Given the description of an element on the screen output the (x, y) to click on. 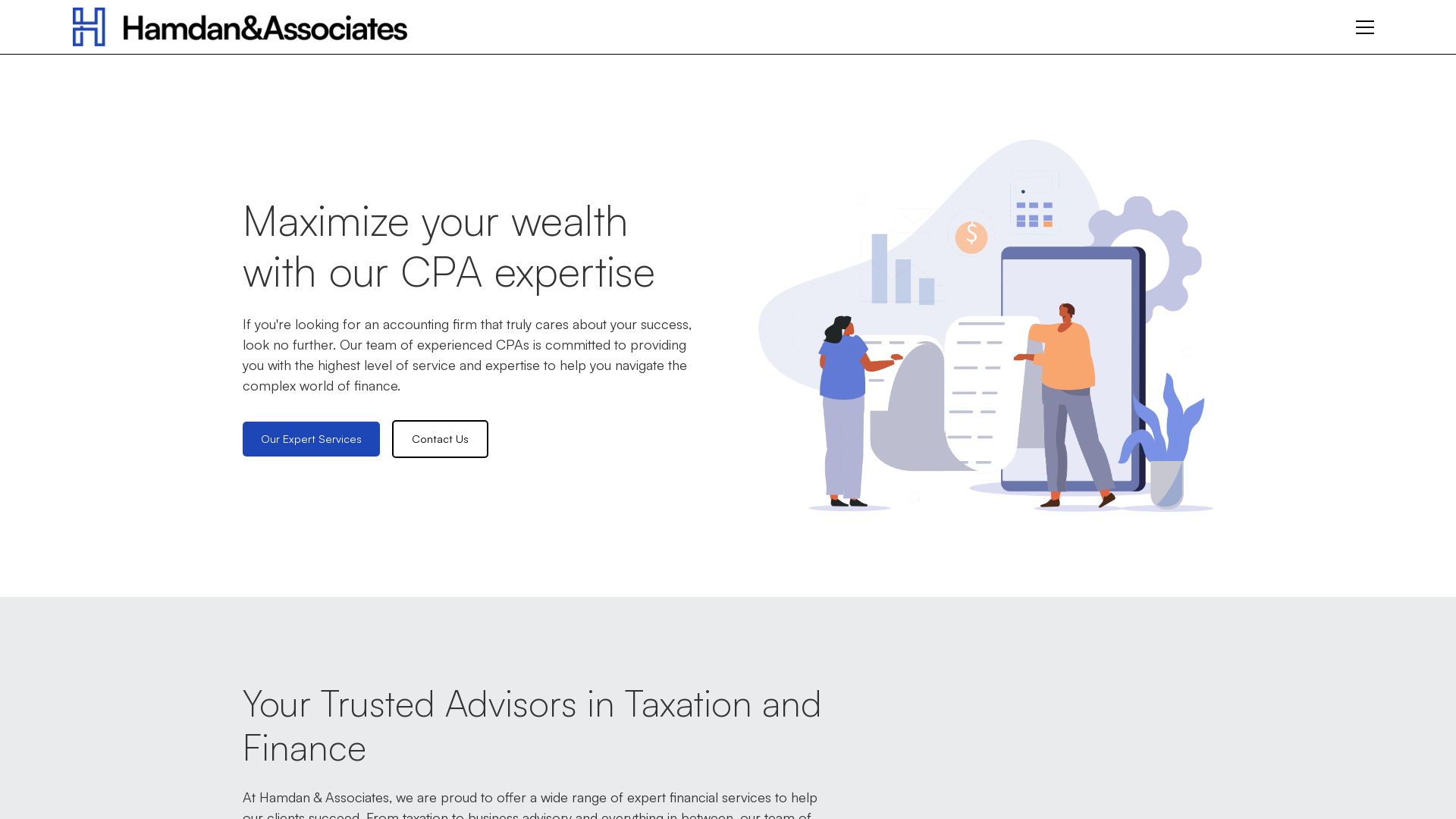
Our Expert Services Element type: text (310, 438)
Contact Us Element type: text (440, 439)
